Given the description of an element on the screen output the (x, y) to click on. 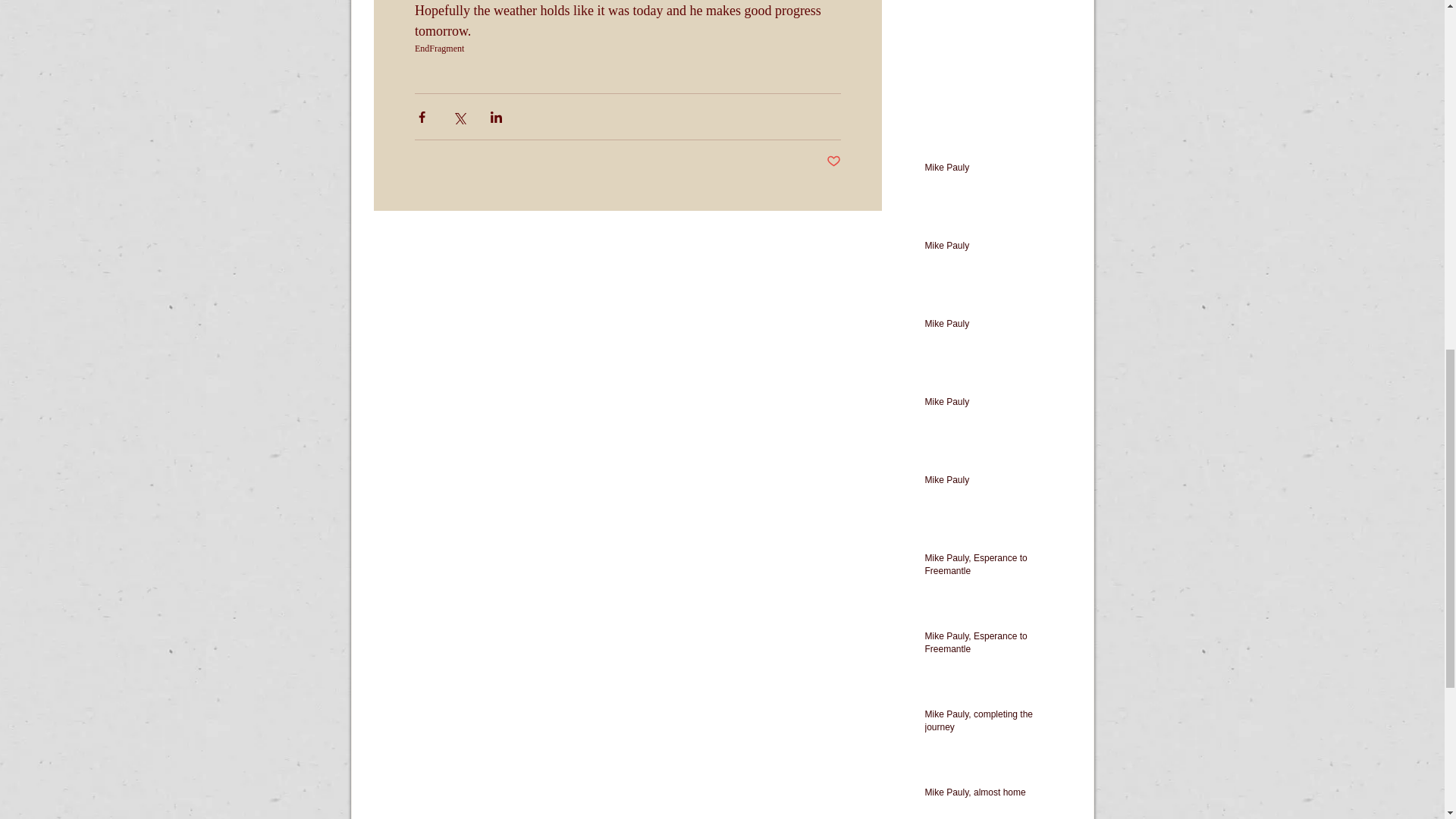
Mike Pauly (993, 170)
Mike Pauly, completing the journey (993, 724)
Mike Pauly (993, 404)
Mike Pauly, Esperance to Freemantle (993, 567)
Mike Pauly, almost home (993, 795)
Post not marked as liked (834, 161)
Mike Pauly (993, 483)
Mike Pauly (993, 326)
Mike Pauly, Esperance to Freemantle (993, 645)
Mike Pauly (993, 248)
